Given the description of an element on the screen output the (x, y) to click on. 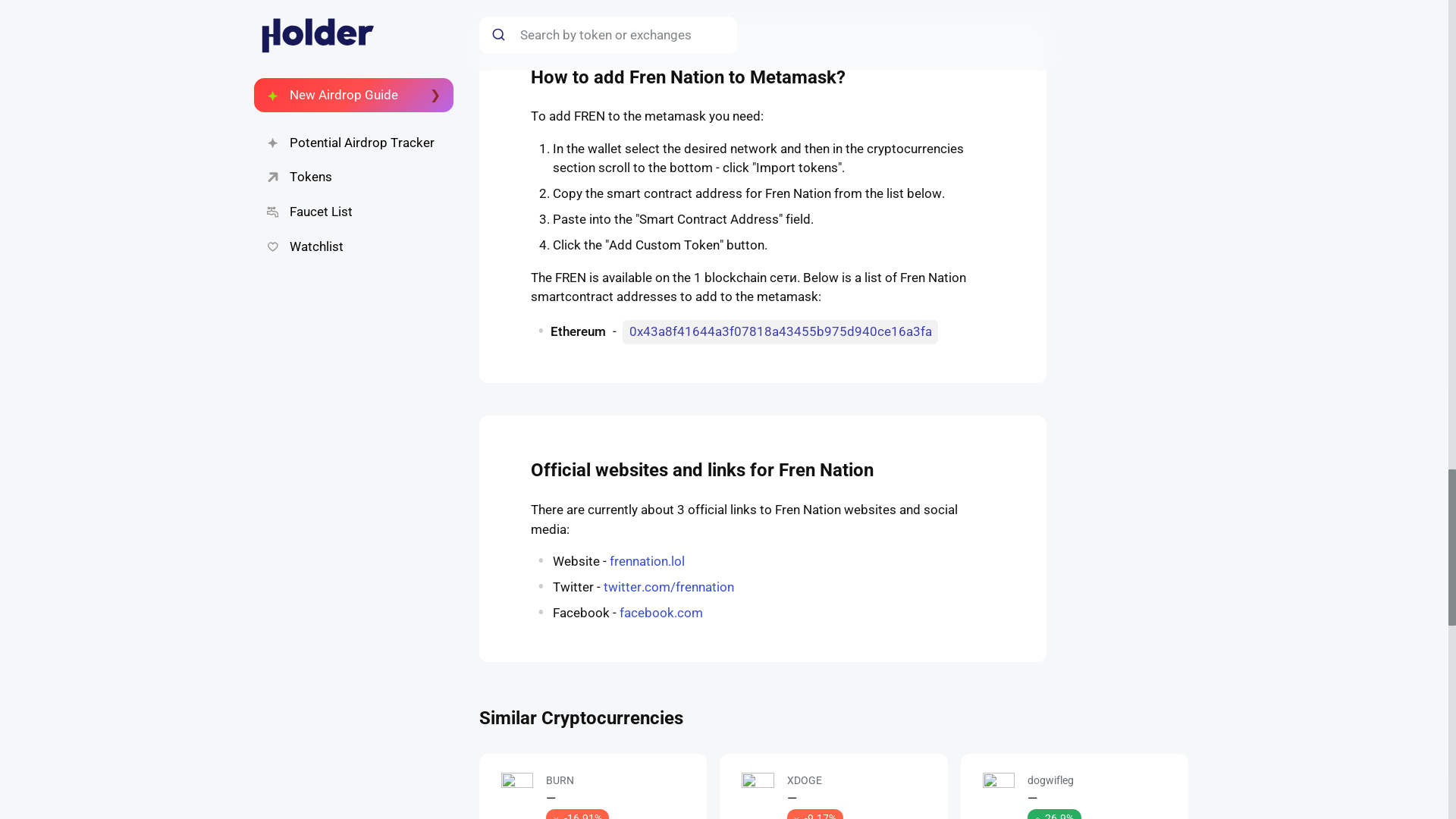
frennation.lol (647, 560)
facebook.com (661, 612)
